Given the description of an element on the screen output the (x, y) to click on. 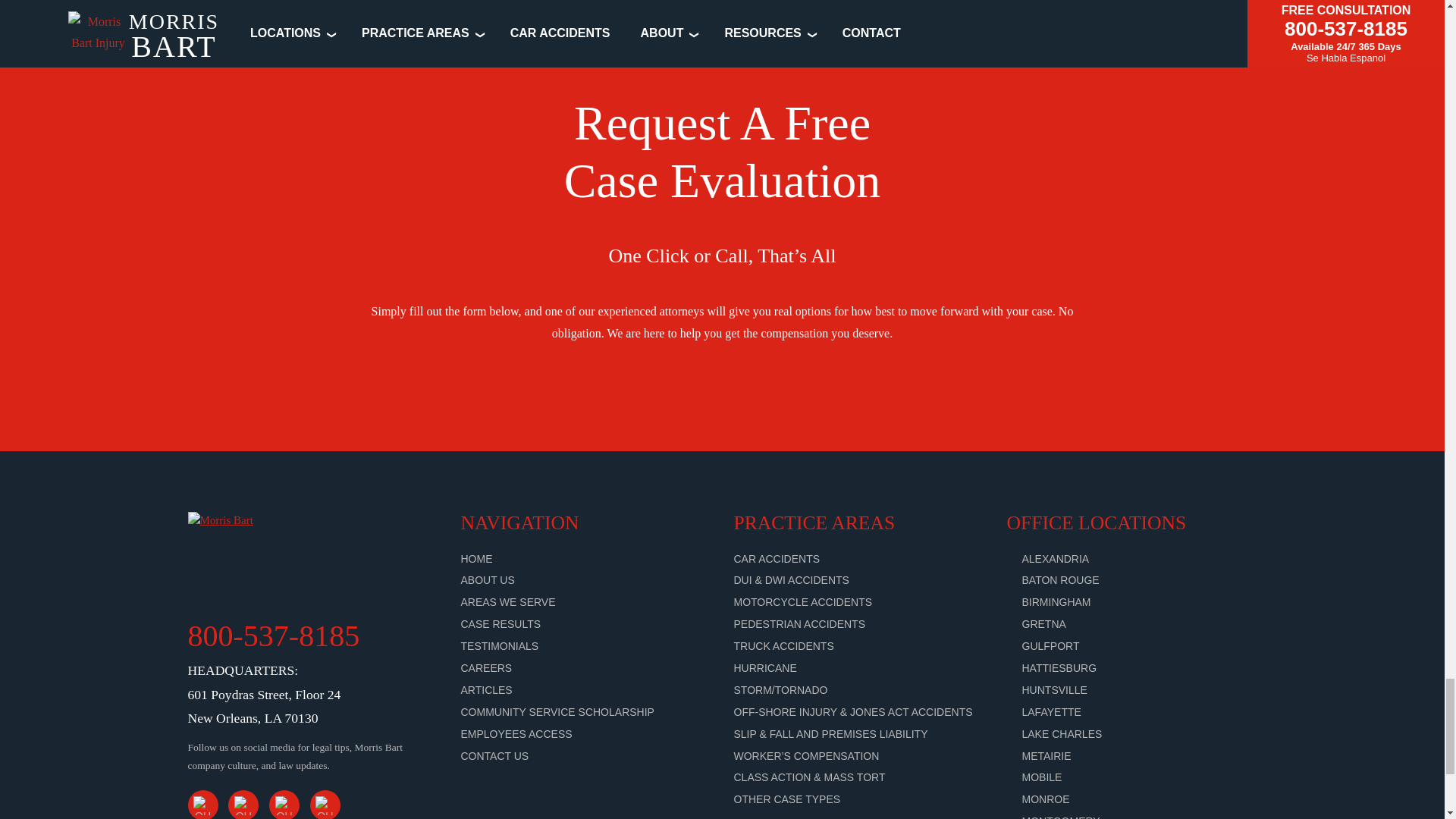
Areas We Serve (508, 602)
Articles (486, 689)
Case results (501, 623)
About us (488, 580)
Careers (486, 667)
Testimonials (499, 645)
Community Service Scholarship (557, 711)
